Given the description of an element on the screen output the (x, y) to click on. 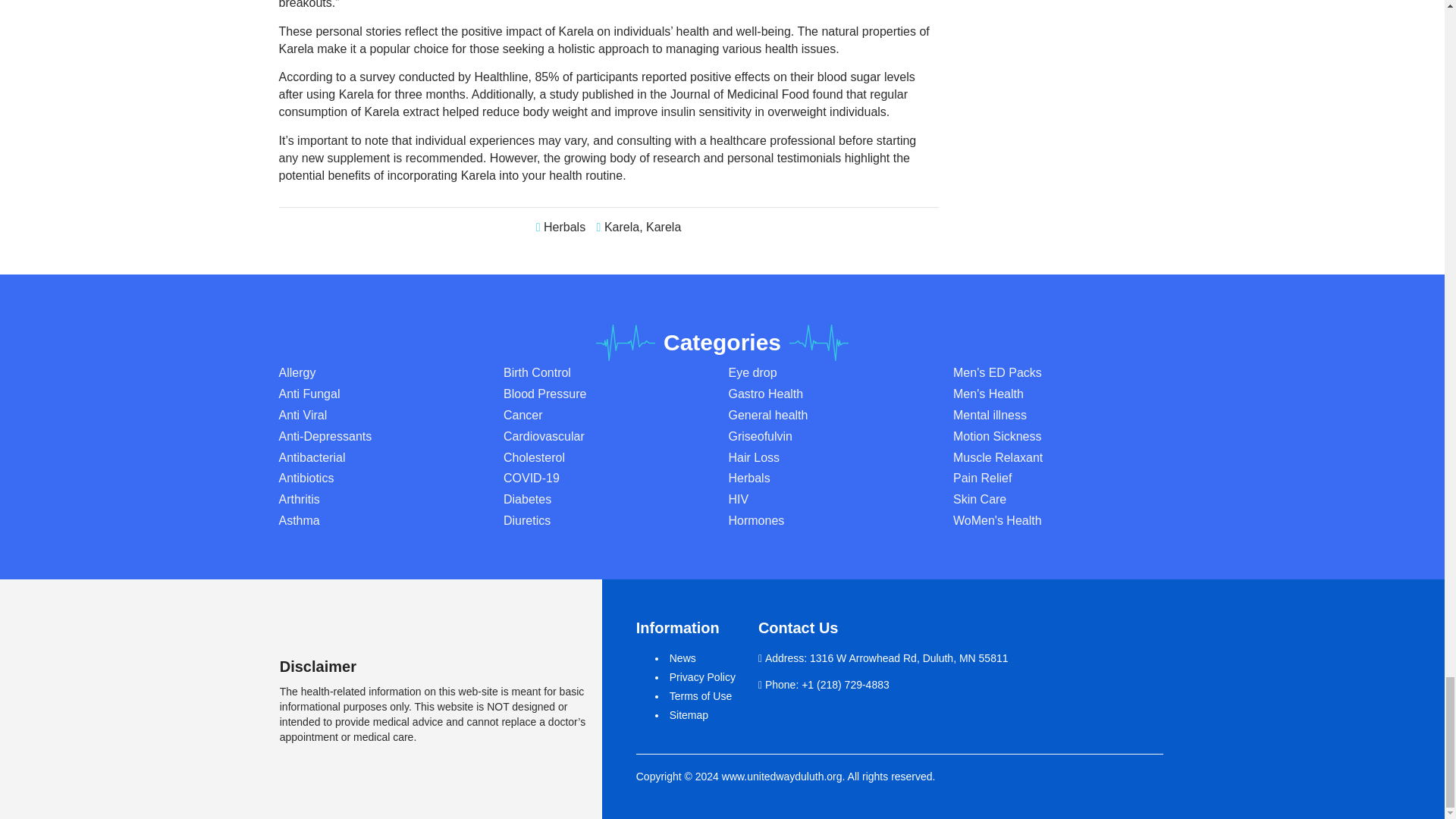
Herbals (564, 226)
